Given the description of an element on the screen output the (x, y) to click on. 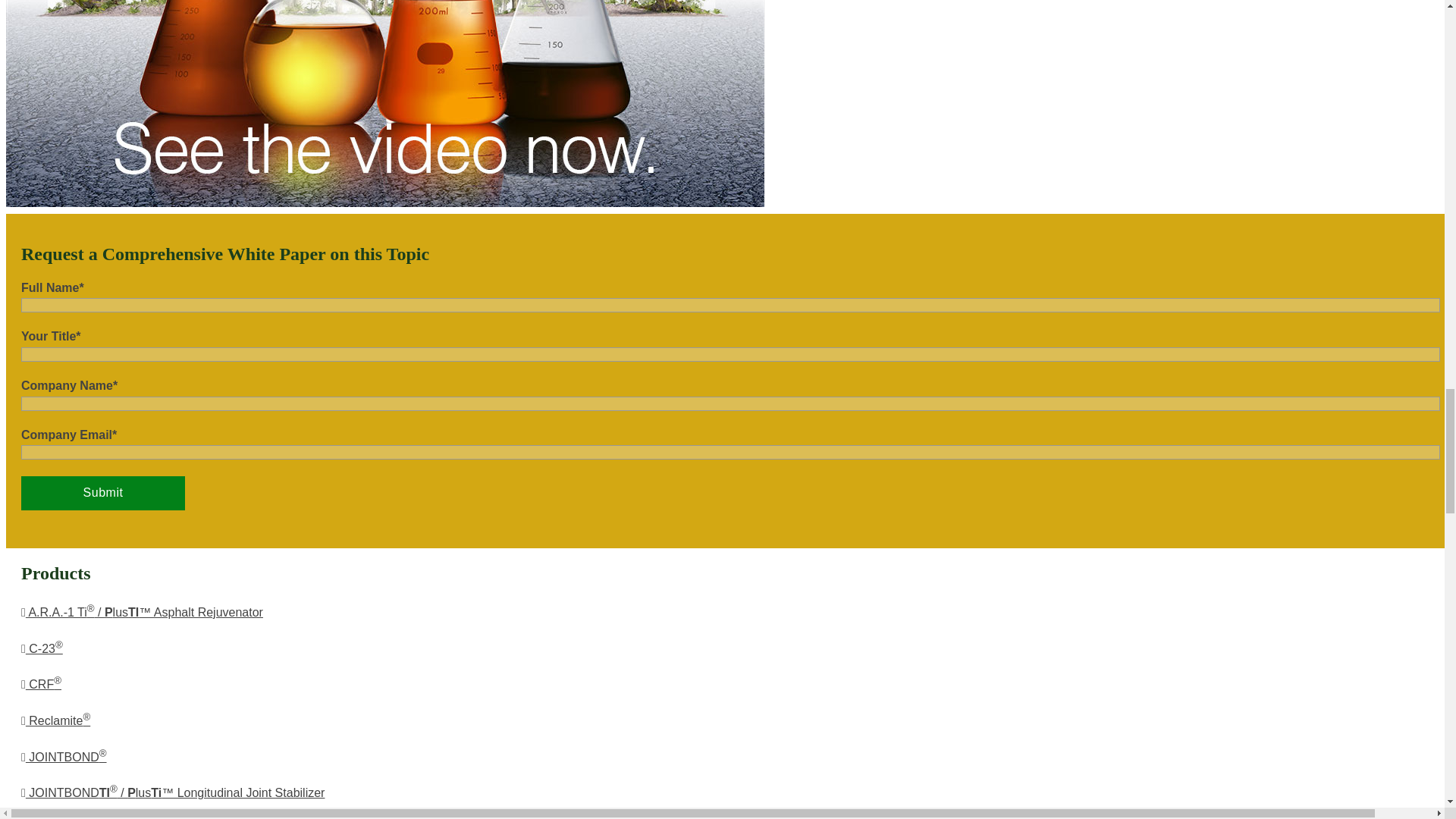
Submit (102, 492)
